Given the description of an element on the screen output the (x, y) to click on. 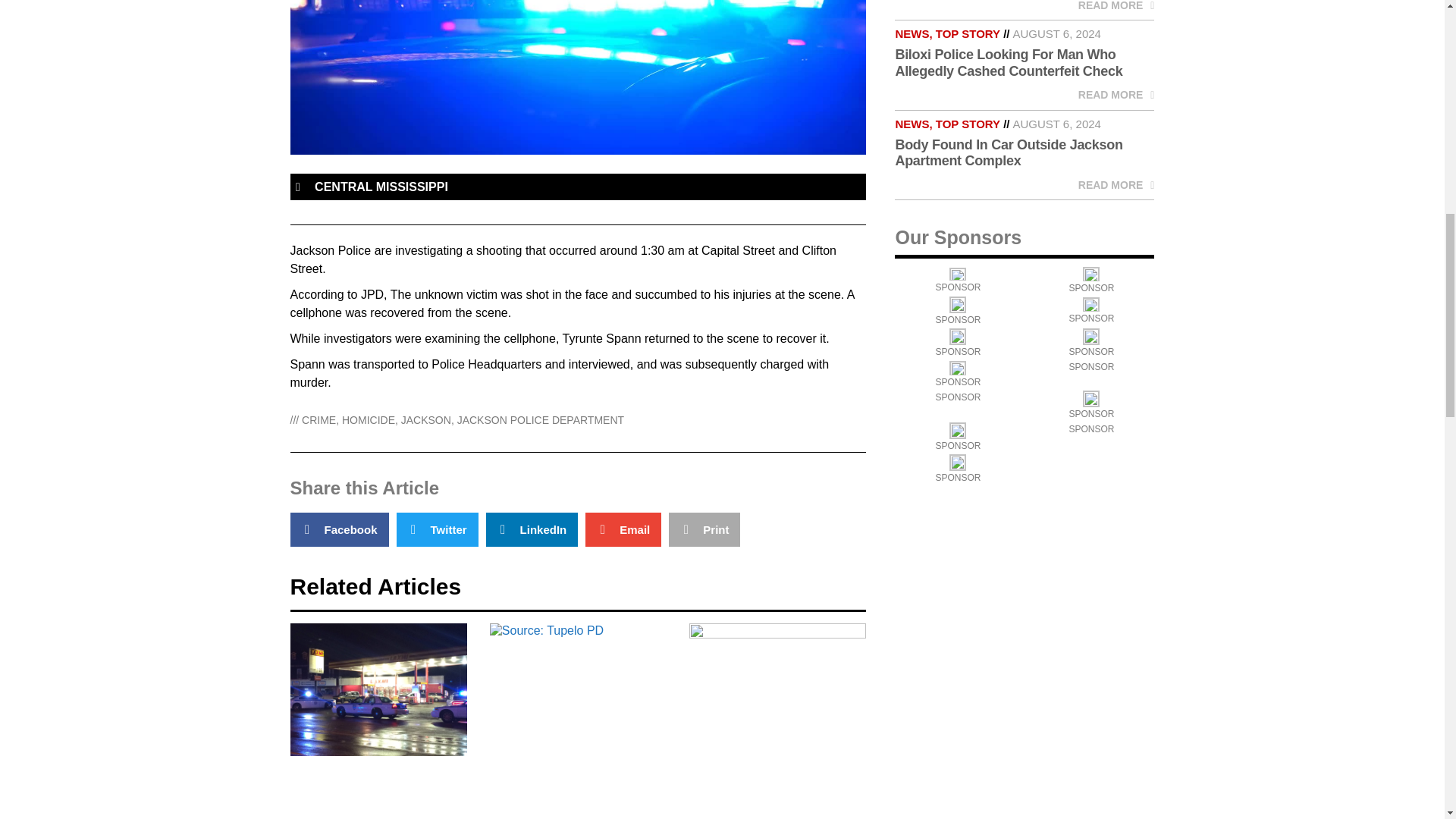
JACKSON (426, 419)
JACKSON POLICE DEPARTMENT (540, 419)
CRIME (318, 419)
HOMICIDE (368, 419)
CENTRAL MISSISSIPPI (381, 186)
